Given the description of an element on the screen output the (x, y) to click on. 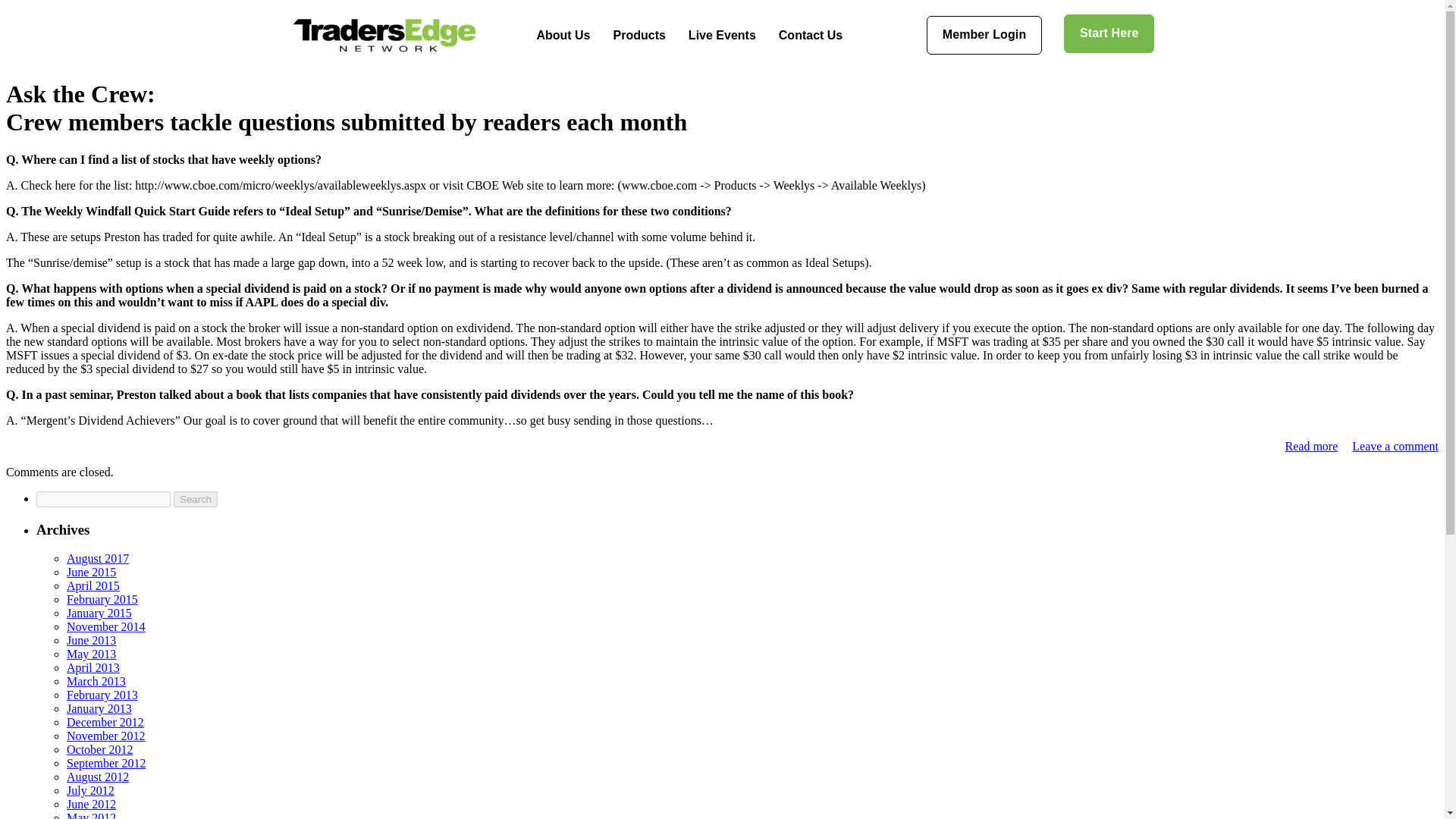
January 2015 (99, 612)
Live Events (722, 35)
April 2015 (92, 585)
September 2012 (105, 762)
January 2013 (99, 707)
Member Login (984, 34)
August 2012 (97, 776)
Search (194, 498)
Contact Us (810, 35)
March 2013 (95, 680)
February 2015 (102, 599)
June 2015 (91, 571)
June 2013 (91, 640)
April 2013 (92, 667)
February 2013 (102, 694)
